Given the description of an element on the screen output the (x, y) to click on. 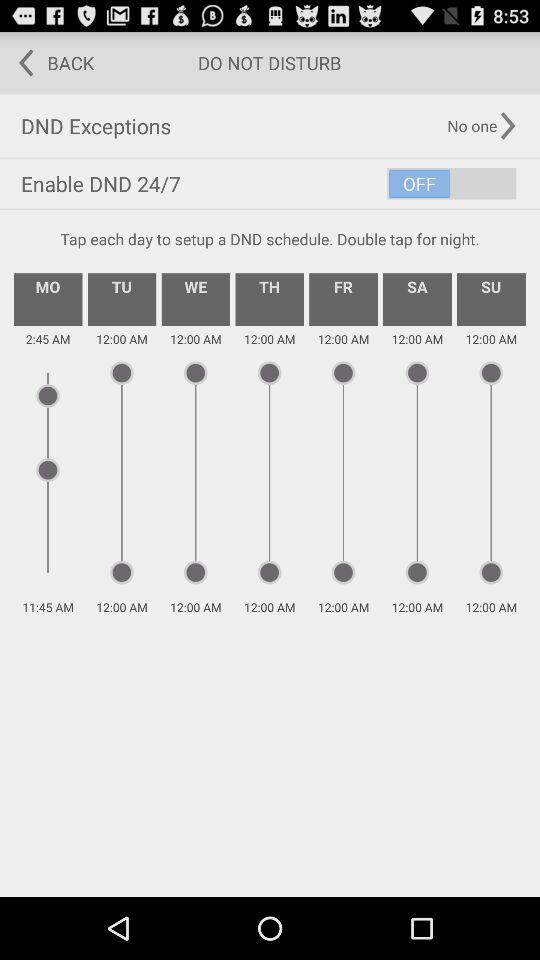
click enable dnd 24 item (270, 183)
